Given the description of an element on the screen output the (x, y) to click on. 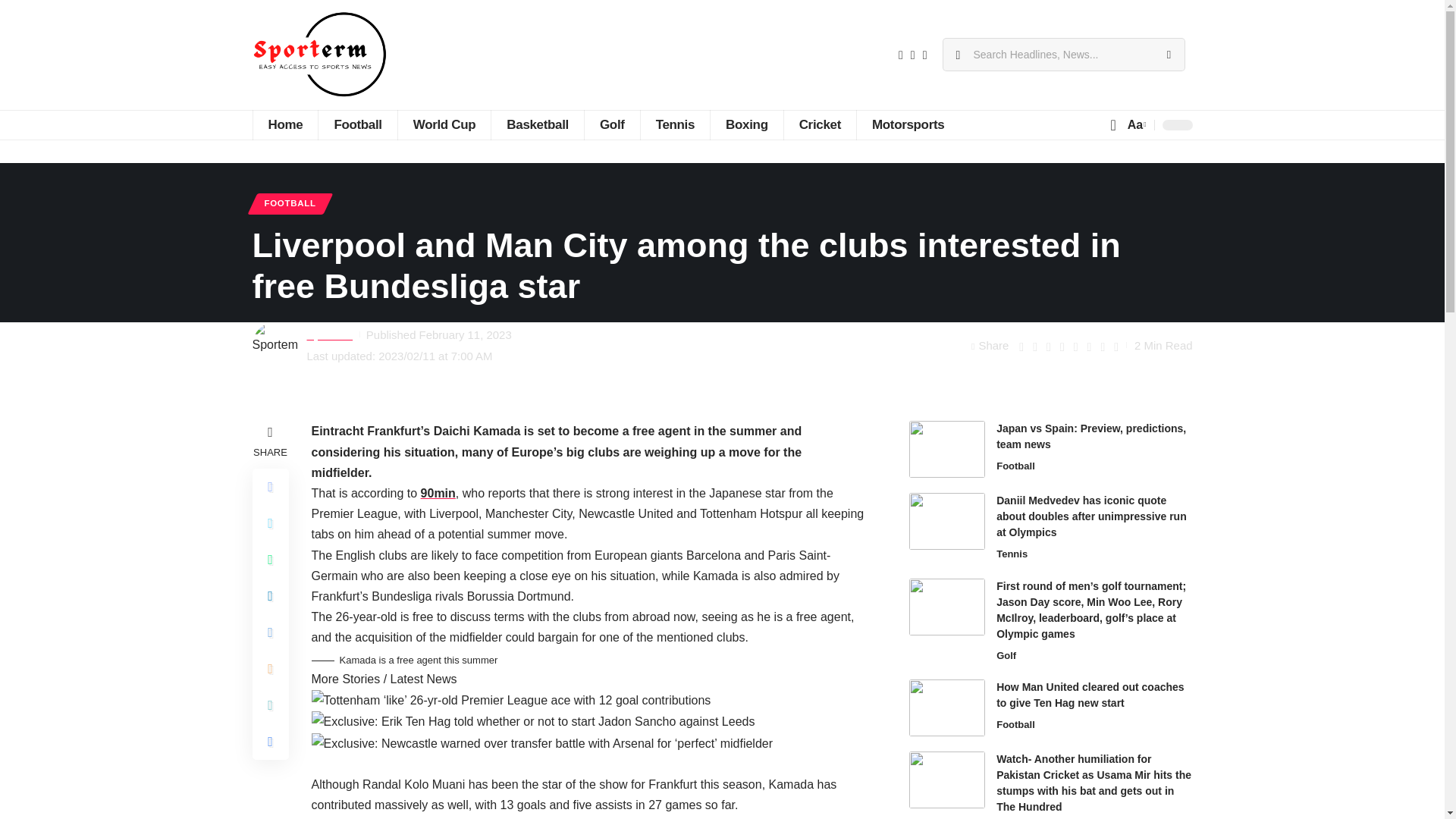
Sporterm (319, 54)
Boxing (746, 124)
Tennis (675, 124)
Japan vs Spain: Preview, predictions, team news (946, 448)
Aa (1135, 124)
Search (1168, 54)
Motorsports (907, 124)
Football (356, 124)
Basketball (536, 124)
Home (284, 124)
Golf (611, 124)
Cricket (819, 124)
World Cup (444, 124)
